Given the description of an element on the screen output the (x, y) to click on. 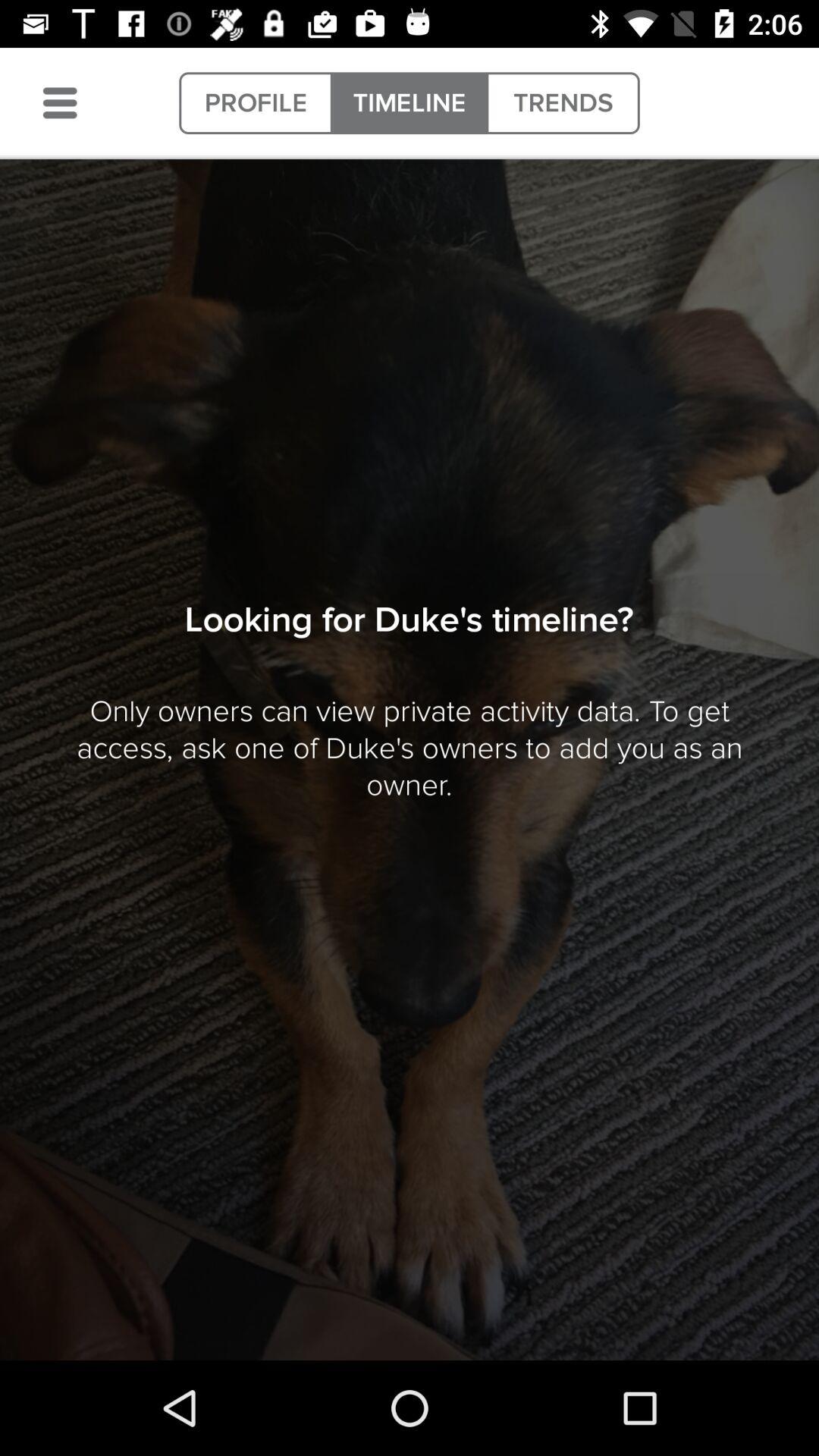
choose item at the top right corner (562, 103)
